Given the description of an element on the screen output the (x, y) to click on. 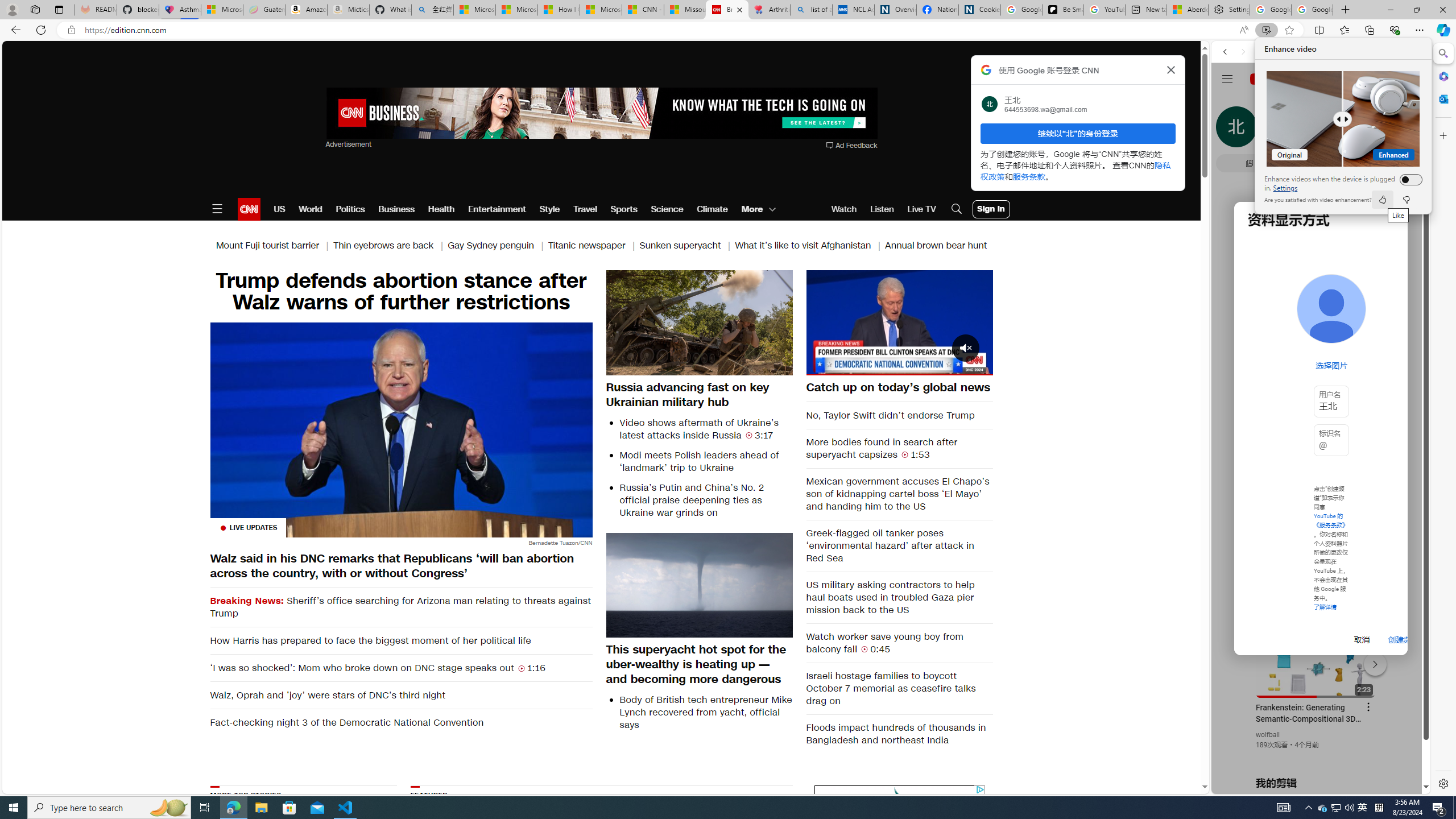
Backward 10 seconds (864, 322)
Microsoft Edge - 1 running window (233, 807)
Style (549, 209)
Options (952, 365)
Live TV (921, 208)
Business (396, 209)
Watch (844, 208)
Search Filter, WEB (1230, 129)
User Account Log In Button (991, 208)
